Given the description of an element on the screen output the (x, y) to click on. 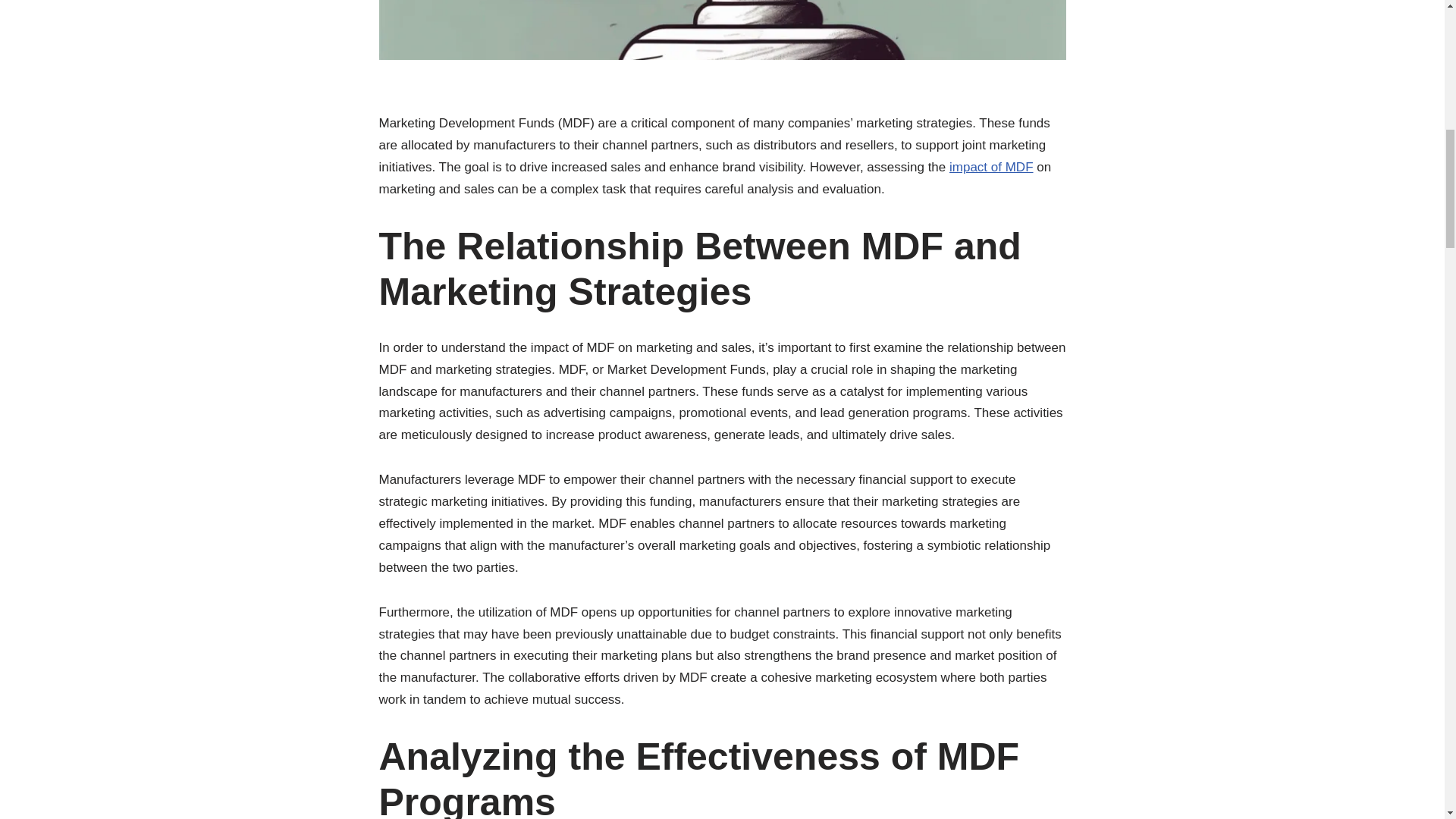
impact of MDF (991, 166)
